Given the description of an element on the screen output the (x, y) to click on. 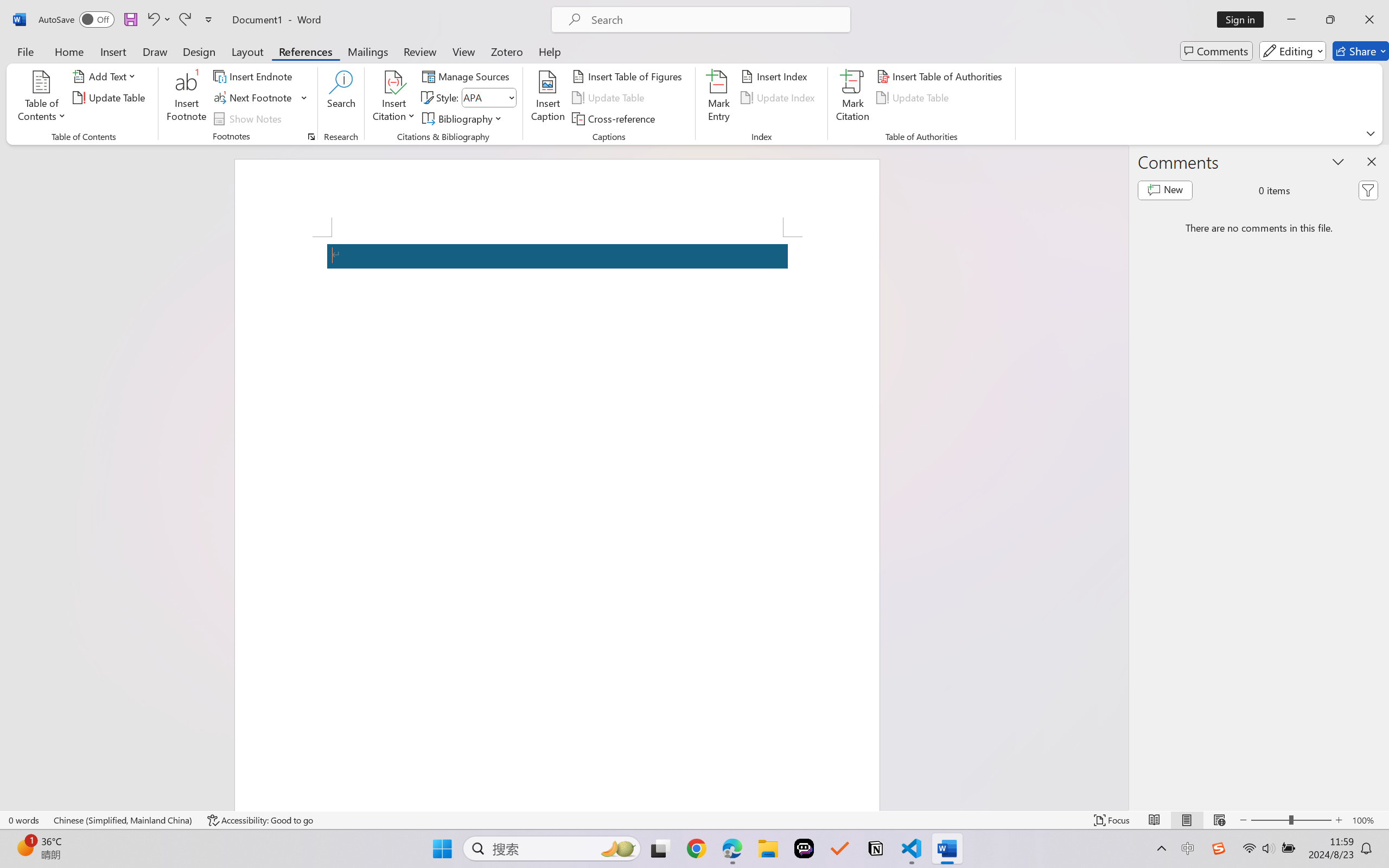
Manage Sources... (467, 75)
Undo Apply Quick Style Set (158, 19)
Next Footnote (260, 97)
Editing (1292, 50)
Bibliography (463, 118)
Next Footnote (253, 97)
